Given the description of an element on the screen output the (x, y) to click on. 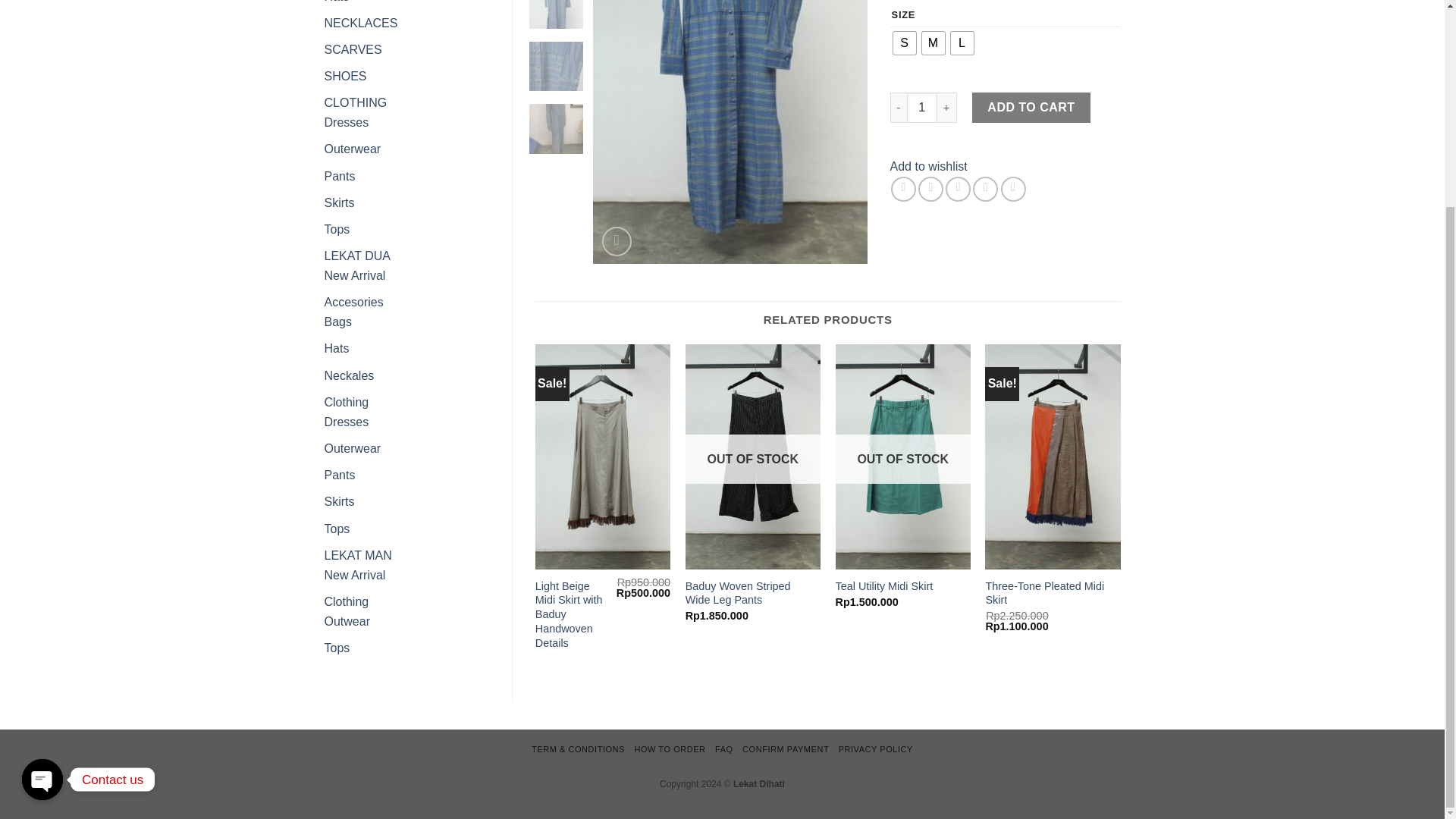
SHOES (345, 75)
CLOTHING (355, 102)
L (962, 42)
S (904, 42)
Qty (922, 107)
Hats (336, 1)
Skirts (339, 202)
SCARVES (352, 49)
Pants (339, 175)
1 (922, 107)
NECKLACES (360, 22)
Dresses (346, 122)
Outerwear (352, 148)
M (932, 42)
